Given the description of an element on the screen output the (x, y) to click on. 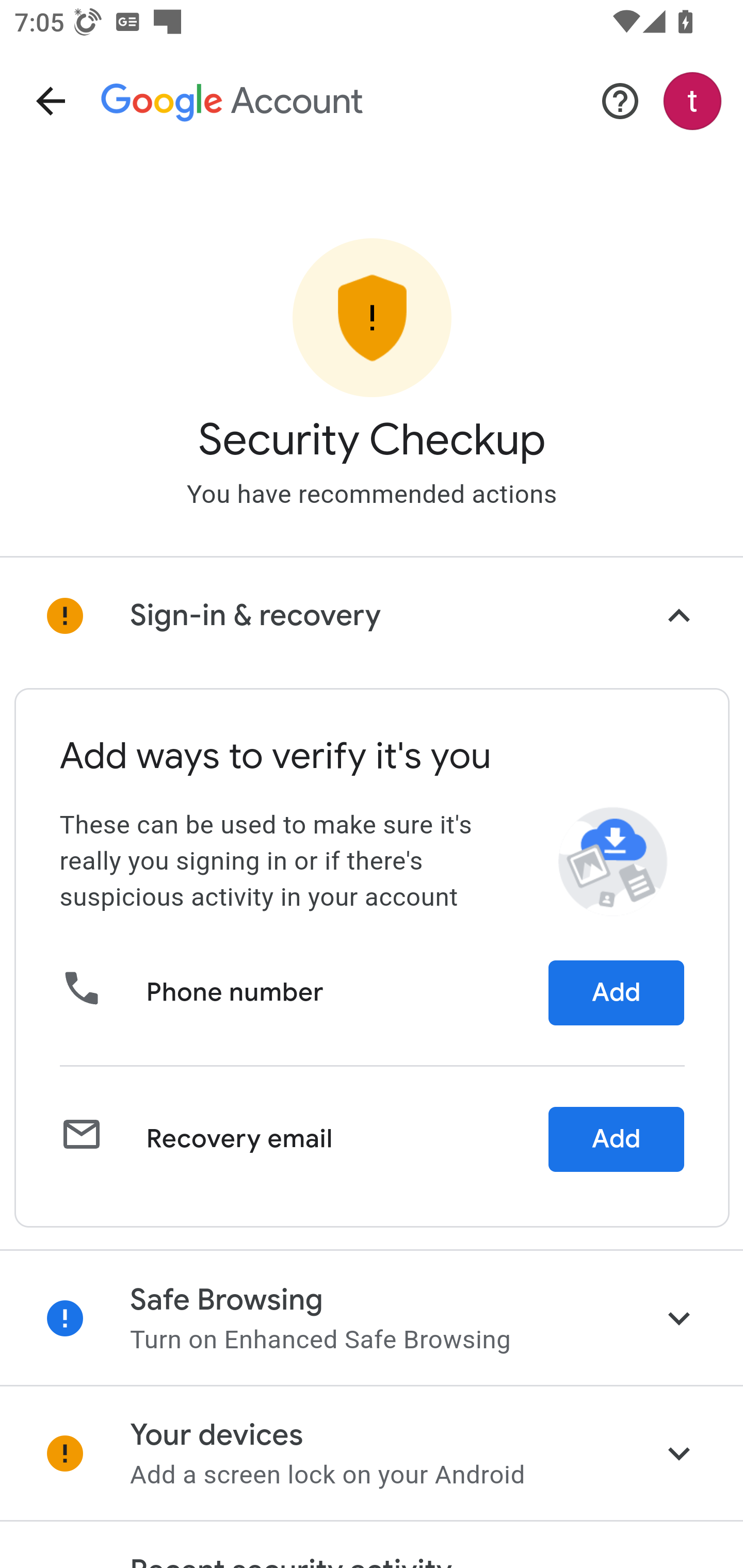
Navigate up (50, 101)
Help & feedback (619, 101)
Issues found in sign-in & recovery (371, 615)
Add your phone number (616, 993)
Add a recovery email (616, 1138)
Safe Browsing Turn on Enhanced Safe Browsing (371, 1317)
